Given the description of an element on the screen output the (x, y) to click on. 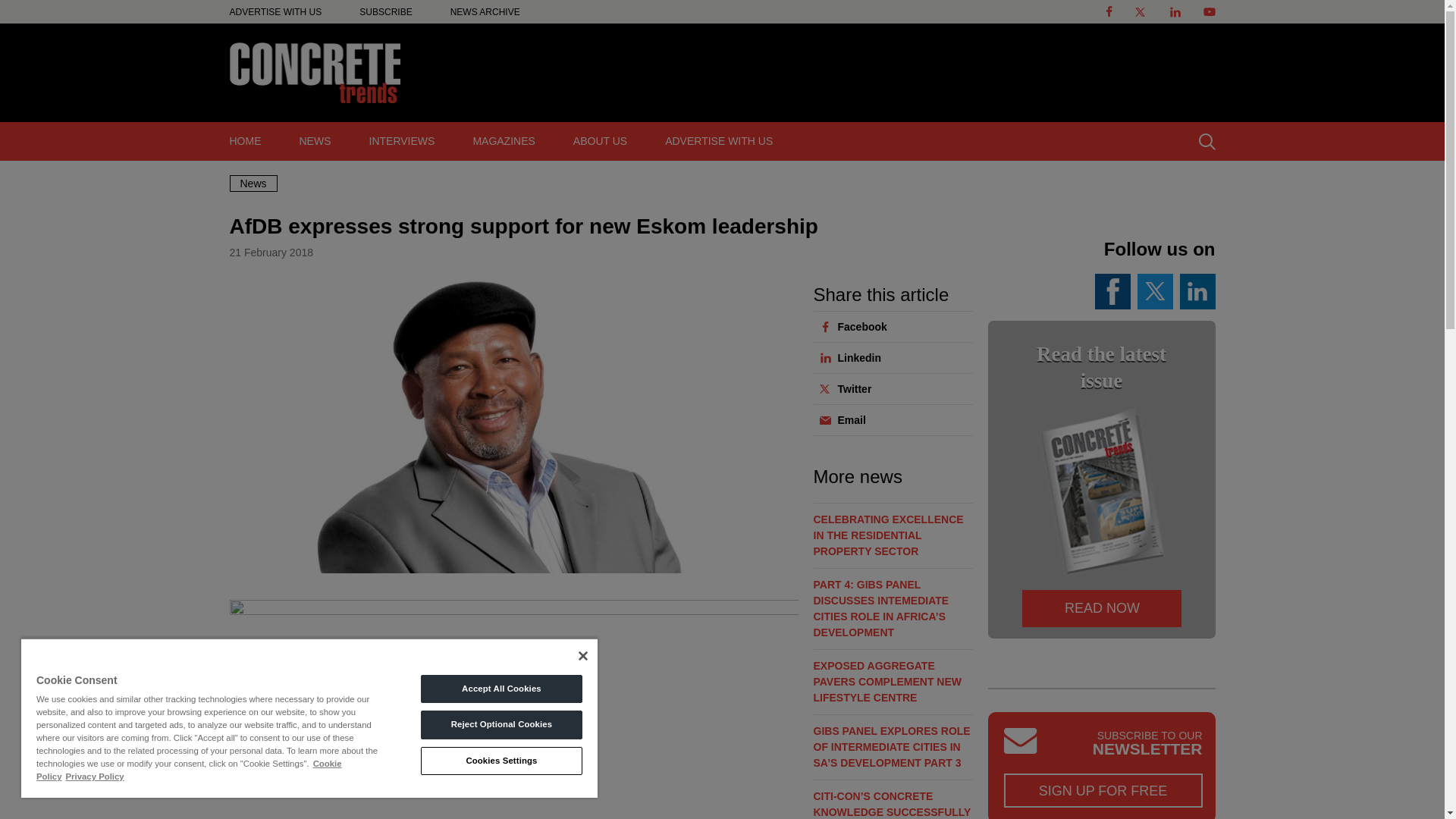
ABOUT US (600, 141)
MAGAZINES (502, 141)
HOME (246, 141)
INTERVIEWS (402, 141)
ADVERTISE WITH US (719, 141)
Share by Email (887, 419)
ADVERTISE WITH US (274, 11)
NEWS ARCHIVE (484, 11)
NEWS (315, 141)
SUBSCRIBE (385, 11)
